Given the description of an element on the screen output the (x, y) to click on. 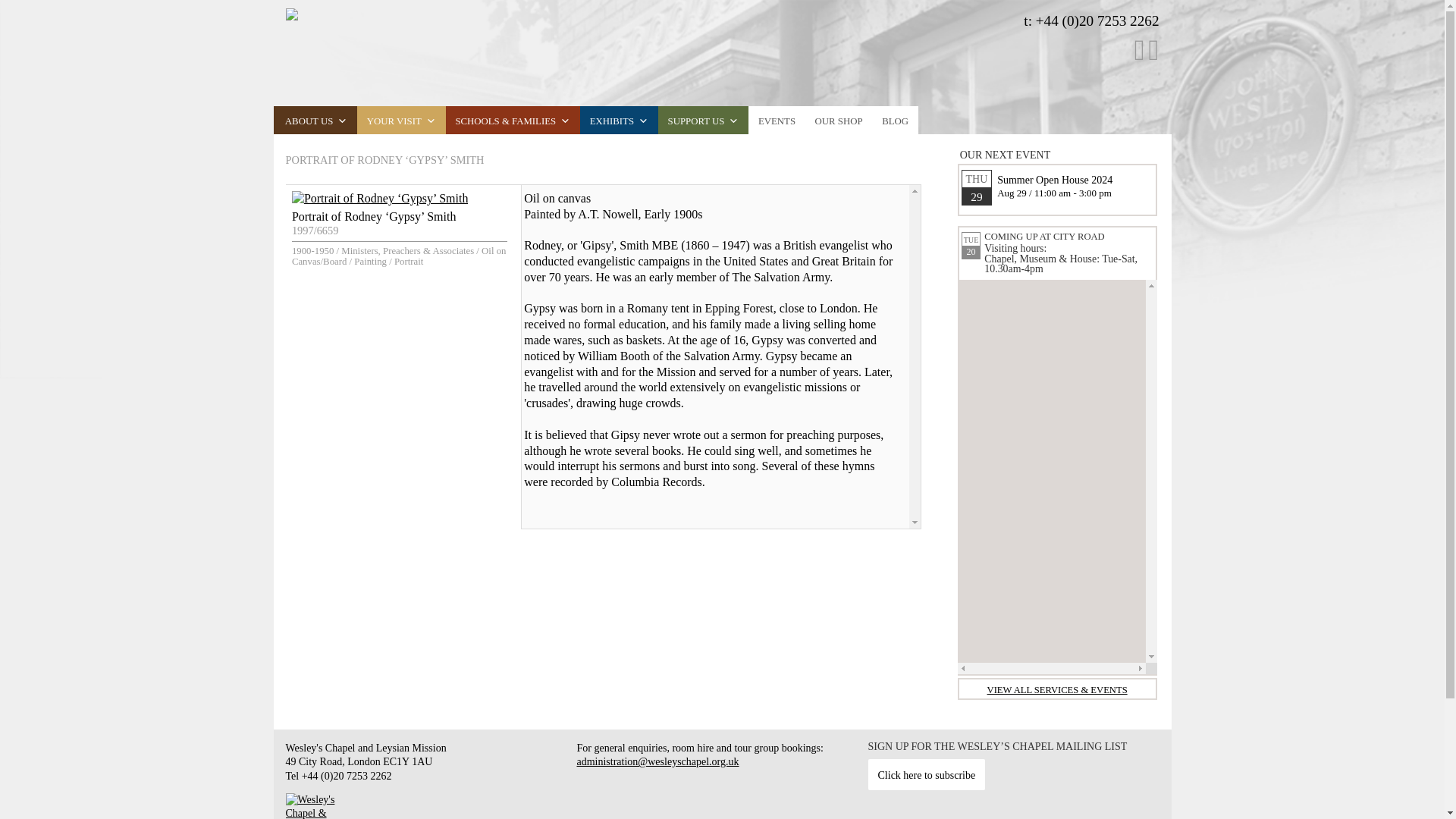
YOUR VISIT (400, 120)
OUR SHOP (838, 120)
BLOG (894, 120)
EXHIBITS (618, 120)
SUPPORT US (703, 120)
ABOUT US (314, 120)
EVENTS (776, 120)
